Given the description of an element on the screen output the (x, y) to click on. 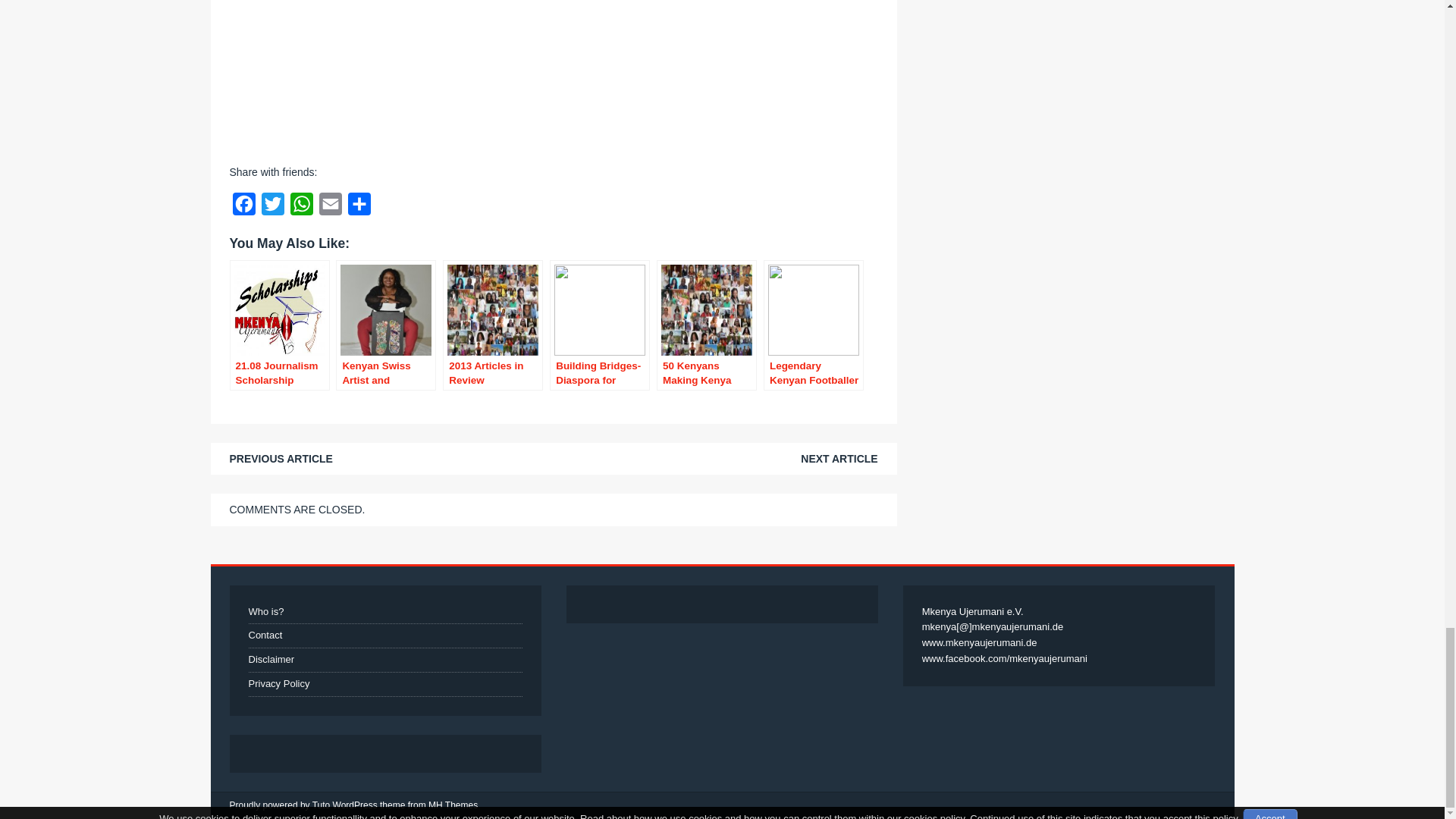
Email (329, 207)
Twitter (271, 207)
Facebook (242, 207)
WhatsApp (300, 207)
